Given the description of an element on the screen output the (x, y) to click on. 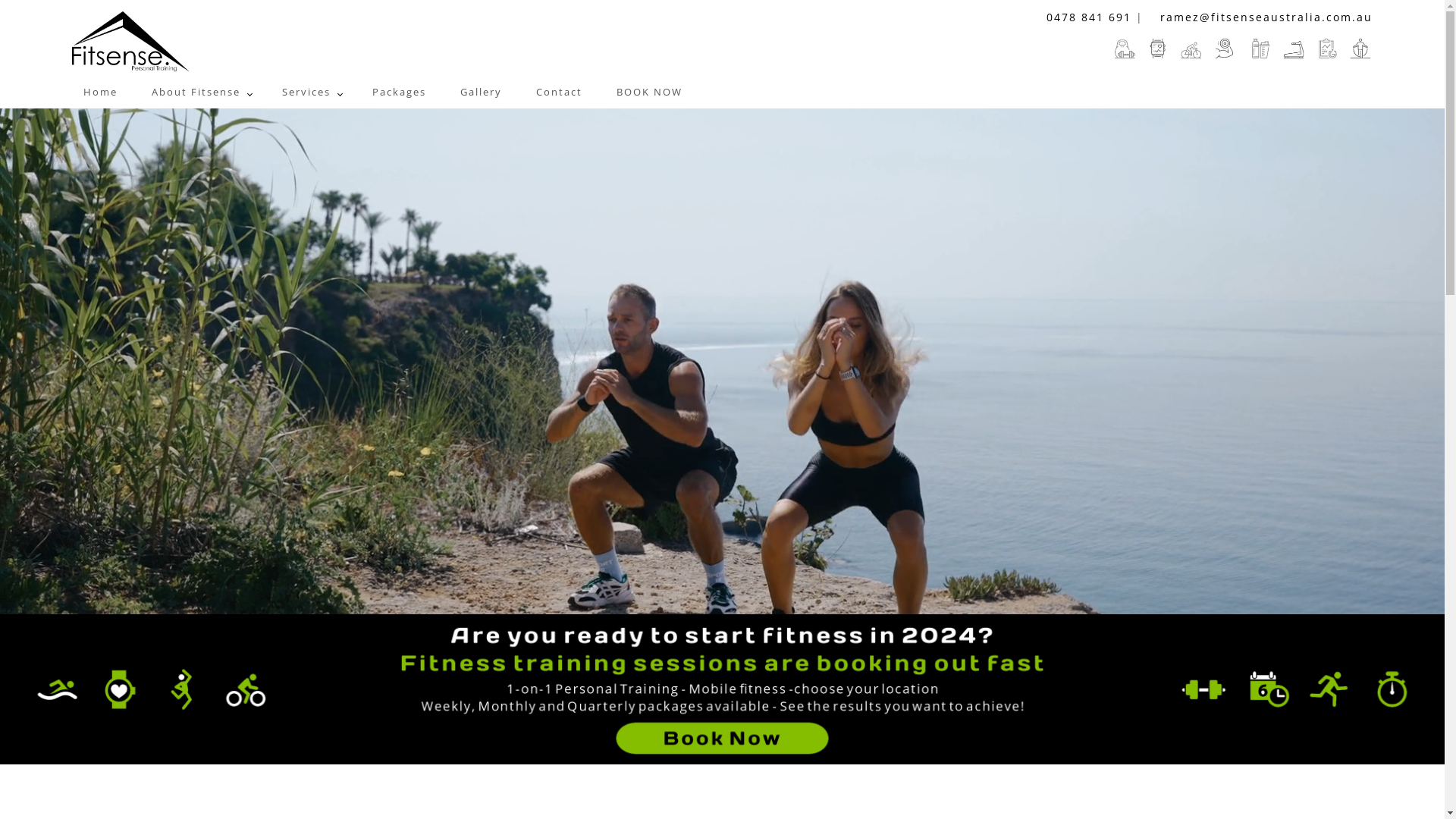
0478 841 691 Element type: text (1082, 16)
Gallery Element type: text (475, 91)
Services Element type: text (304, 91)
BOOK NOW Element type: text (643, 91)
Home Element type: text (94, 91)
ramez@fitsenseaustralia.com.au Element type: text (1260, 16)
Packages Element type: text (393, 91)
Contact Element type: text (553, 91)
About Fitsense Element type: text (193, 91)
